Given the description of an element on the screen output the (x, y) to click on. 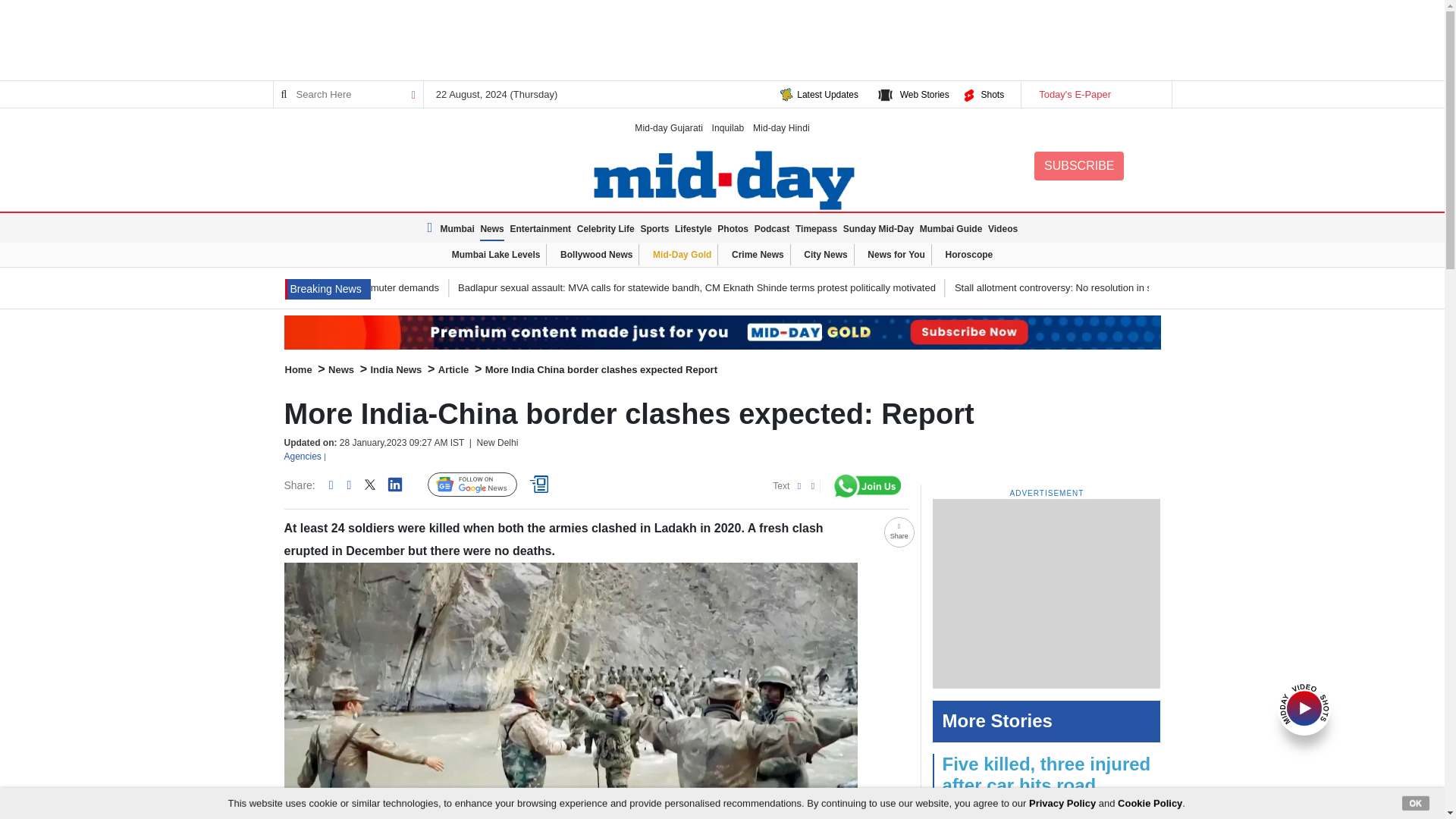
Latest Updates (827, 94)
Today's E-Paper (1095, 94)
Latest News (432, 227)
Mid-day Hindi (780, 127)
Midday Shot Videos (1304, 706)
Shots (991, 94)
Web Stories (924, 94)
Subscription (721, 332)
Inquilab (728, 127)
Quick Reads (541, 485)
